Given the description of an element on the screen output the (x, y) to click on. 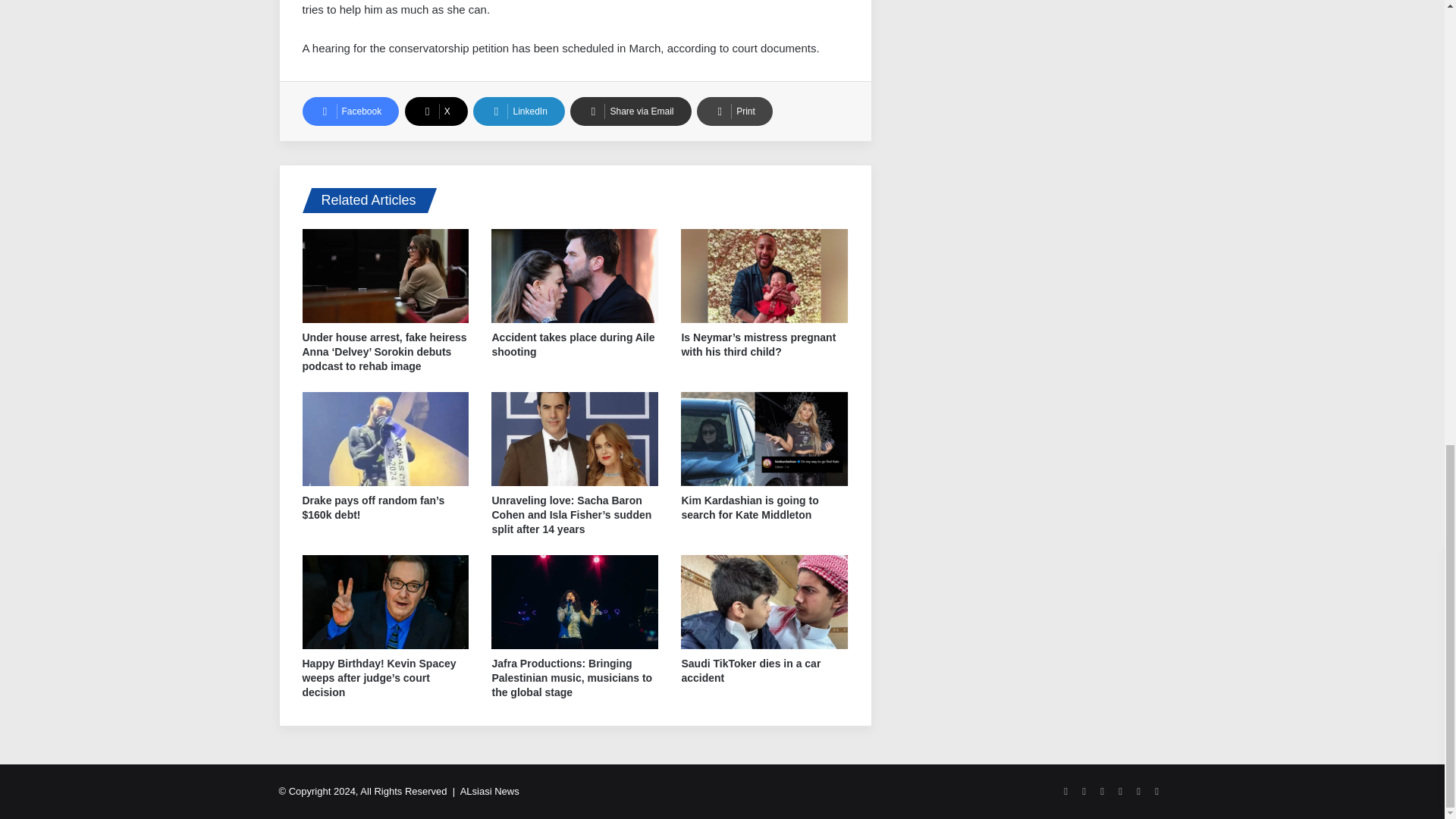
Print (735, 111)
X (435, 111)
Accident takes place during Aile shooting (572, 344)
Facebook (349, 111)
Share via Email (630, 111)
Share via Email (630, 111)
LinkedIn (518, 111)
Saudi TikToker dies in a car accident (751, 670)
X (435, 111)
